Given the description of an element on the screen output the (x, y) to click on. 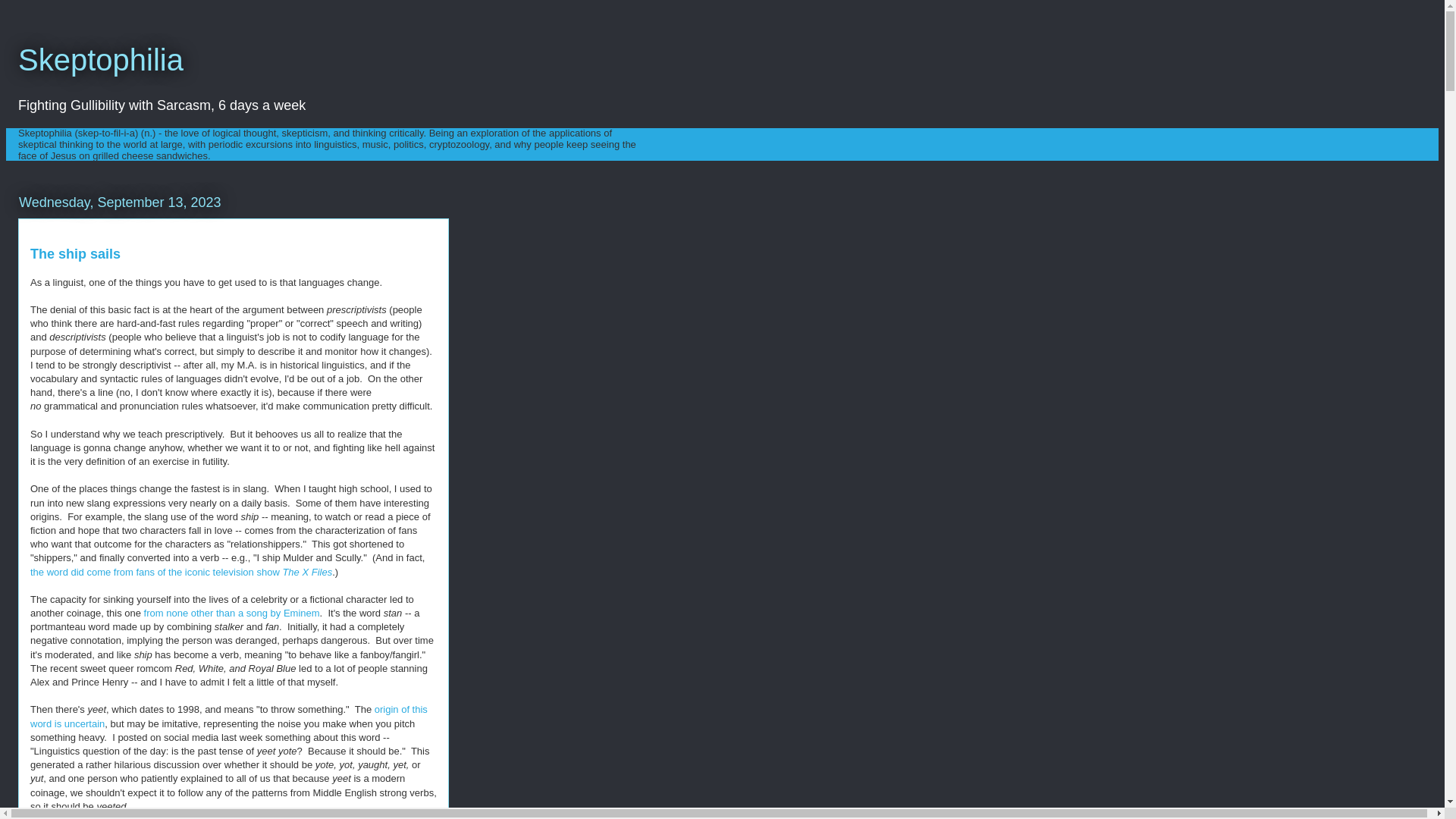
from none other than a song by Eminem (232, 613)
Skeptophilia (100, 59)
origin of this word is uncertain (229, 715)
